Given the description of an element on the screen output the (x, y) to click on. 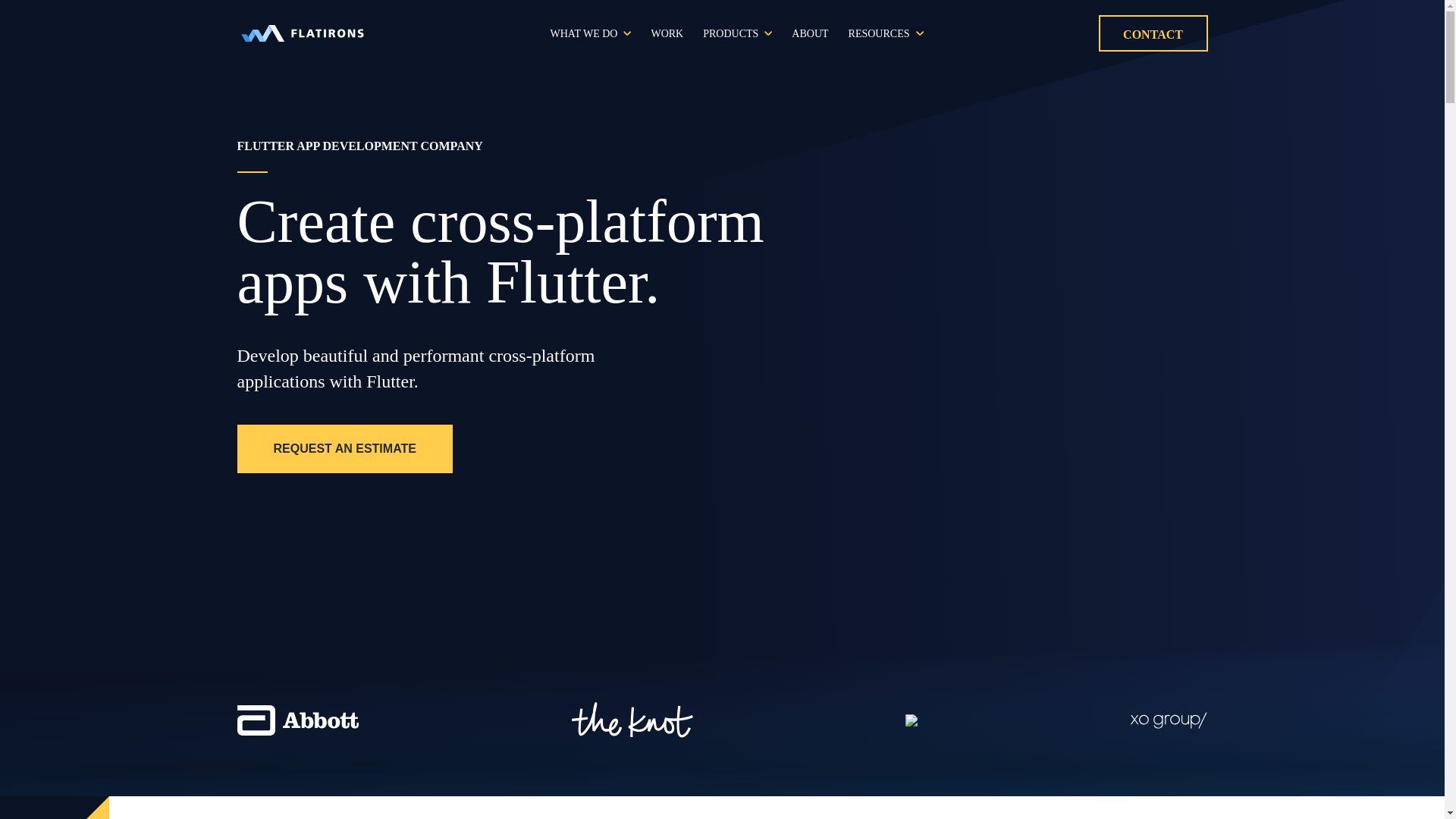
REQUEST AN ESTIMATE (343, 449)
flatirons-logo (300, 33)
ABOUT (810, 33)
PRODUCTS (730, 33)
WHAT WE DO (583, 33)
RESOURCES (879, 33)
WORK (666, 33)
